Given the description of an element on the screen output the (x, y) to click on. 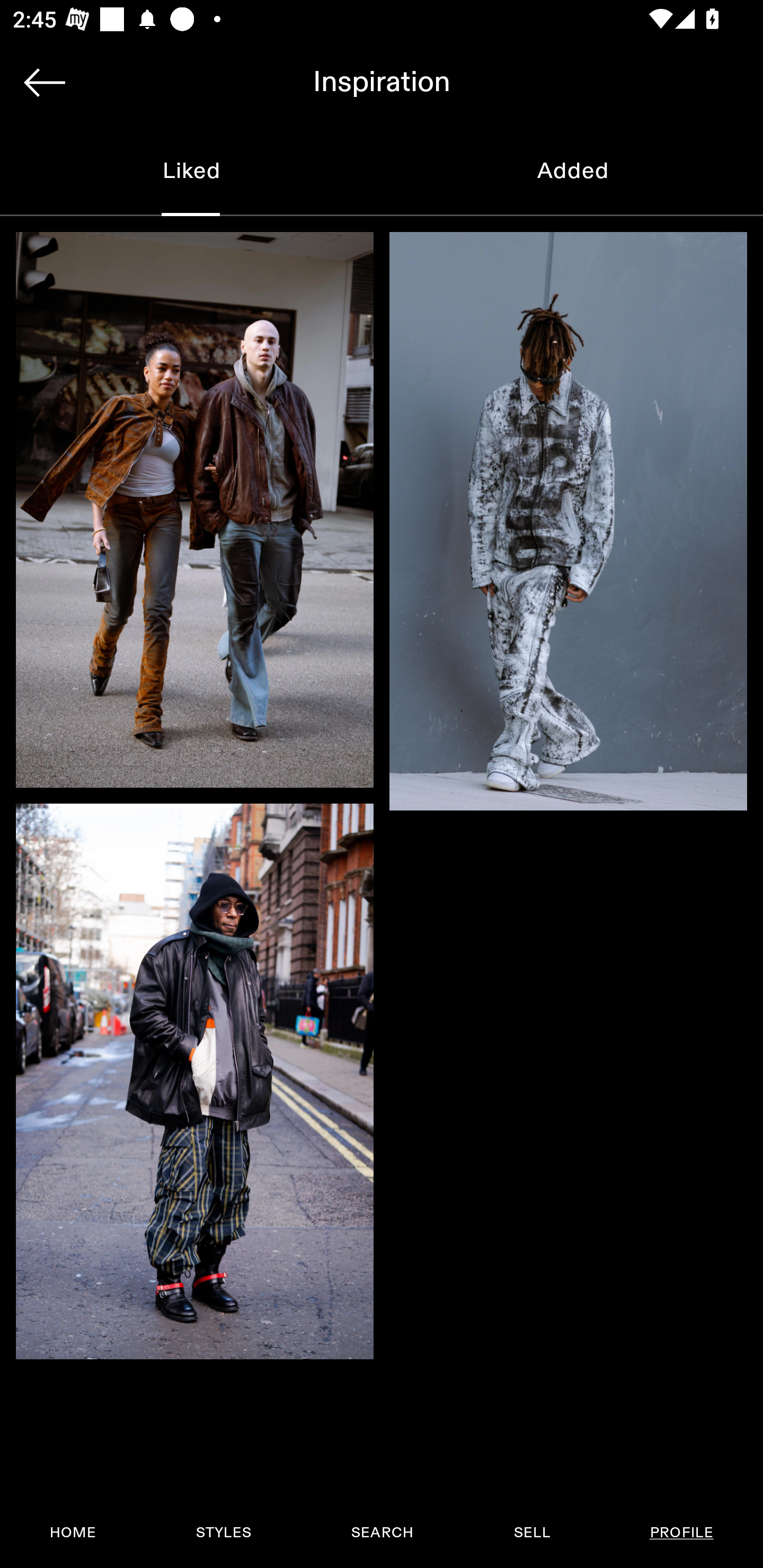
Added (572, 171)
HOME (72, 1532)
STYLES (222, 1532)
SEARCH (381, 1532)
SELL (531, 1532)
PROFILE (681, 1532)
